Given the description of an element on the screen output the (x, y) to click on. 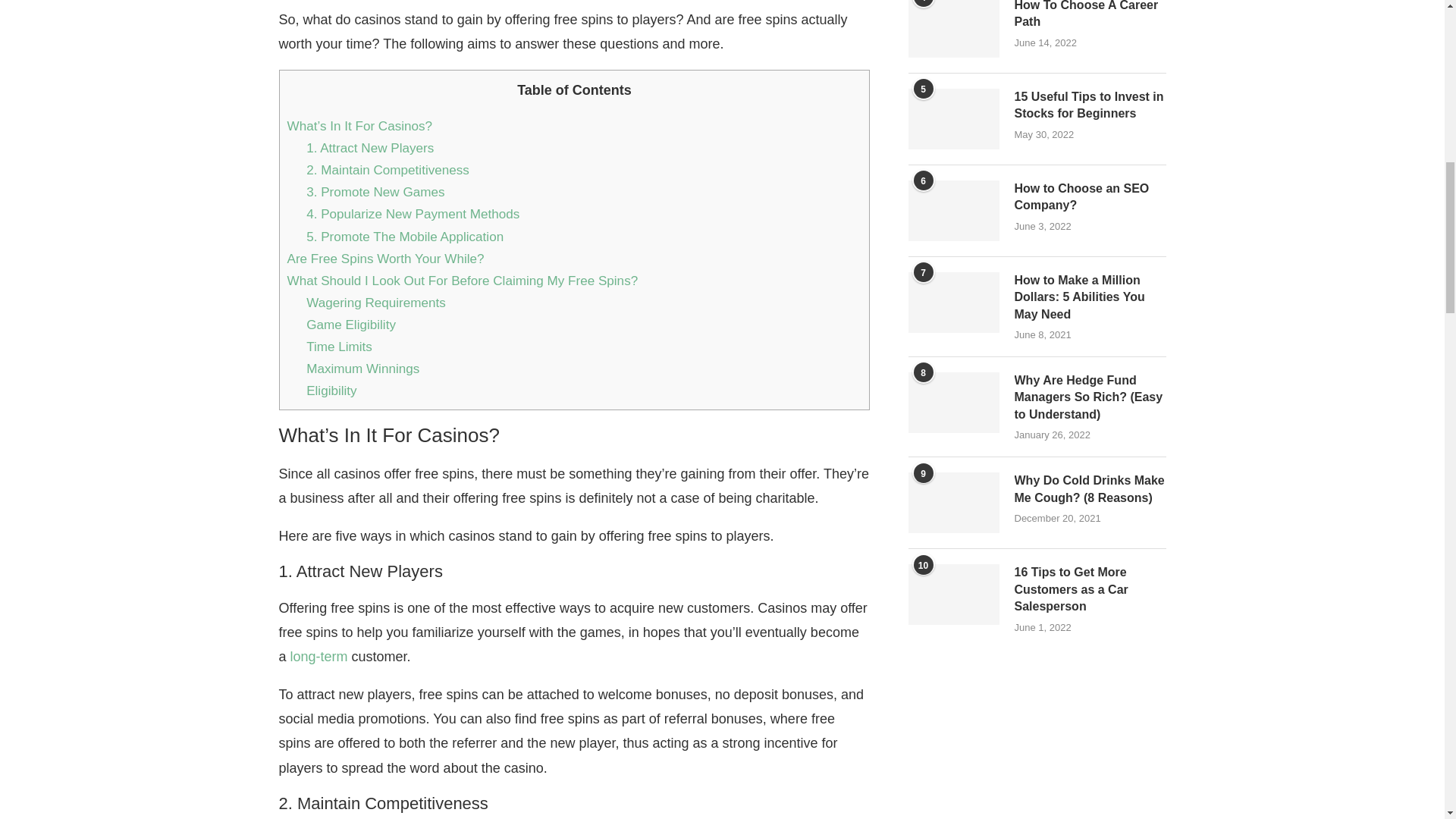
4. Popularize New Payment Methods (412, 214)
Are Free Spins Worth Your While? (384, 258)
Game Eligibility (350, 324)
Time Limits (338, 346)
2. Maintain Competitiveness (386, 169)
5. Promote The Mobile Application (404, 236)
Wagering Requirements (375, 302)
What Should I Look Out For Before Claiming My Free Spins? (461, 280)
1. Attract New Players (369, 147)
3. Promote New Games (374, 192)
